Given the description of an element on the screen output the (x, y) to click on. 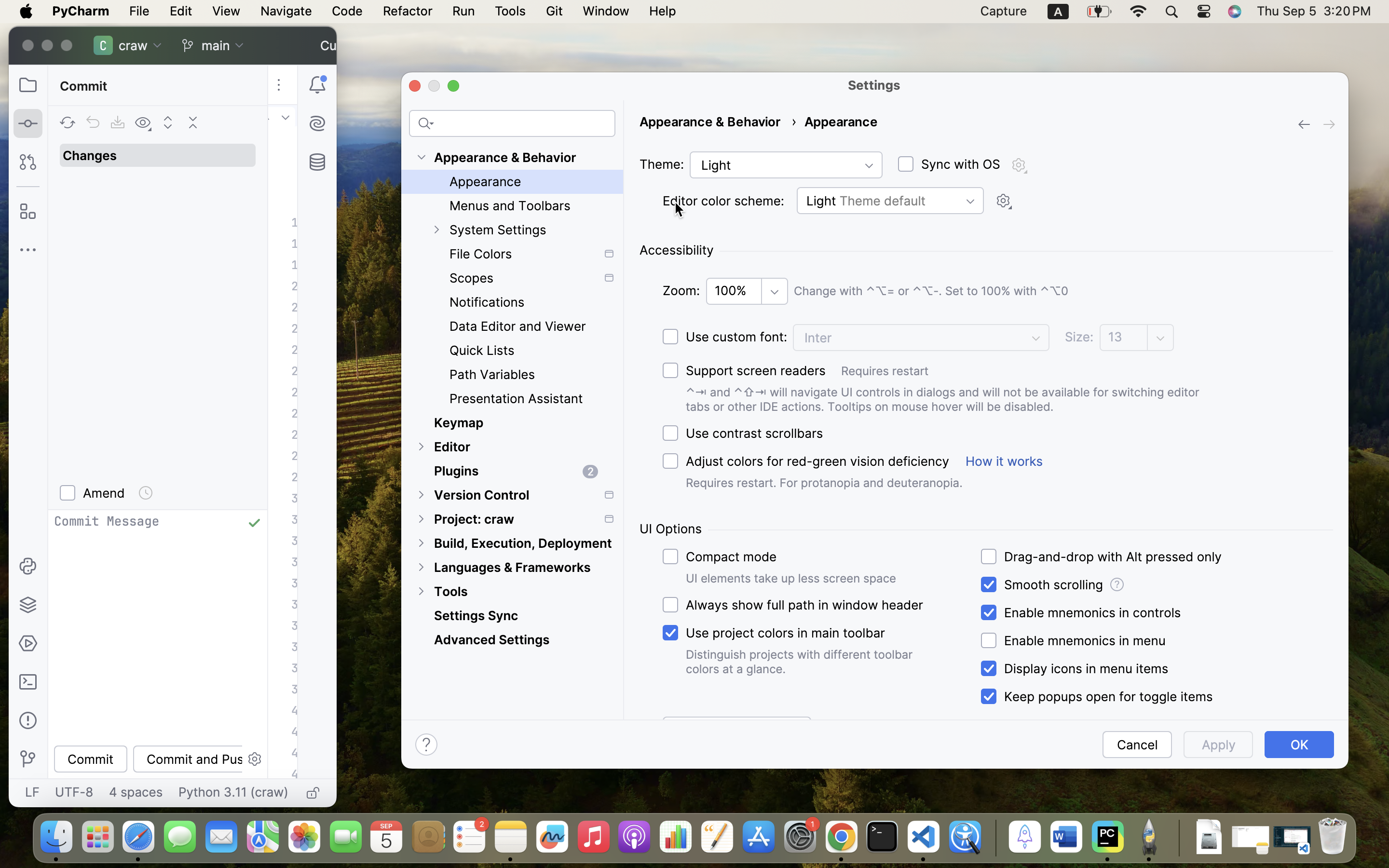
Requires restart. For protanopia and deuteranopia. Element type: AXTextField (823, 482)
1 Element type: AXCheckBox (1094, 696)
Theme: Element type: AXStaticText (661, 164)
Accessibility Element type: AXStaticText (676, 250)
0 Element type: AXOutline (512, 432)
